Given the description of an element on the screen output the (x, y) to click on. 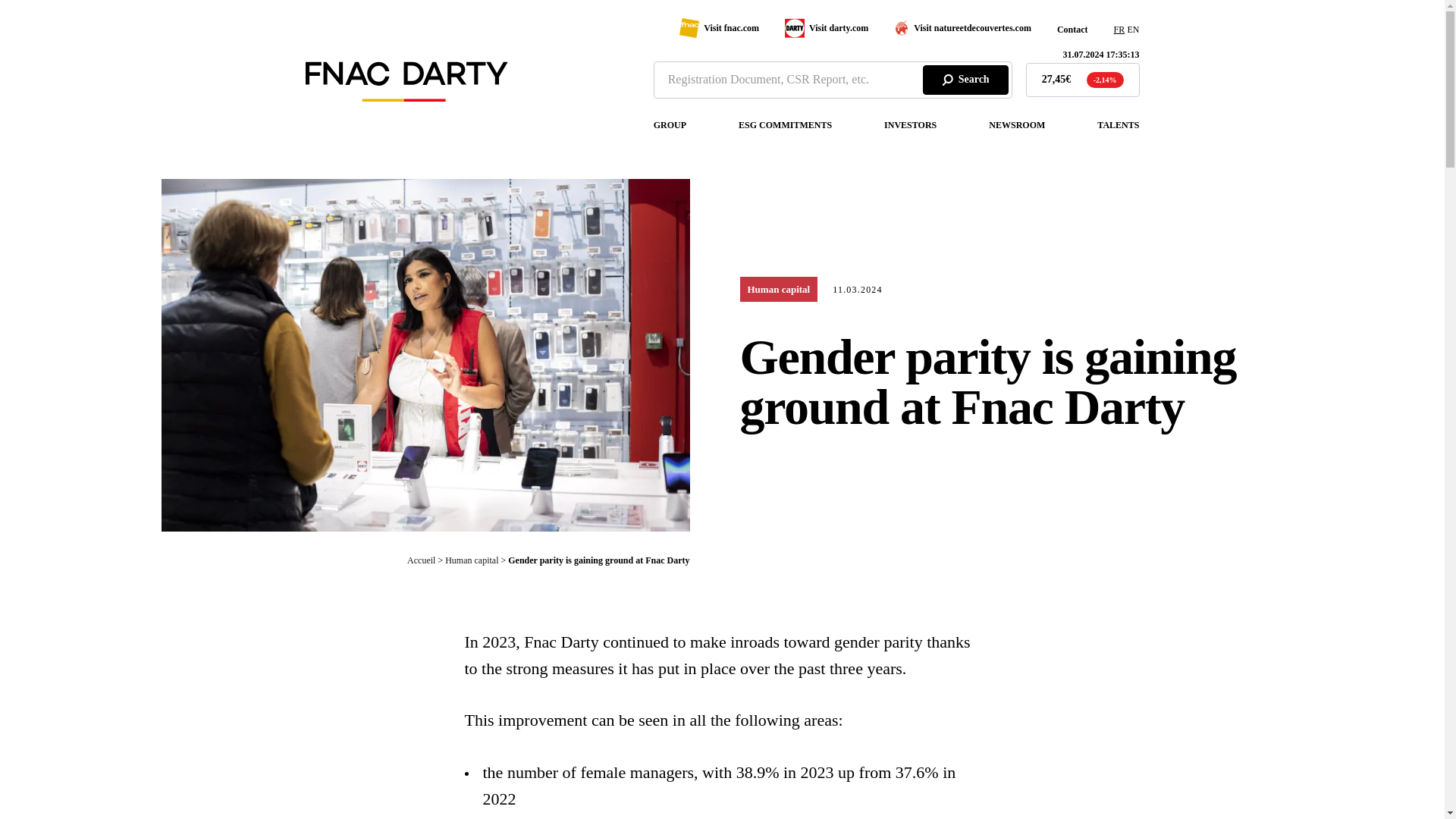
FNAC DARTY Fnac Darty (405, 96)
Human capital (471, 560)
FNAC DARTY Fnac Darty (405, 81)
INVESTORS (909, 125)
Visit fnac.com (718, 27)
TALENTS (1117, 125)
NEWSROOM (1016, 125)
Accueil (421, 560)
Search (966, 80)
Visit natureetdecouvertes.com (961, 28)
GROUP (669, 125)
ESG COMMITMENTS (784, 125)
Visit darty.com (825, 27)
Contact (1072, 29)
Human capital (778, 289)
